Given the description of an element on the screen output the (x, y) to click on. 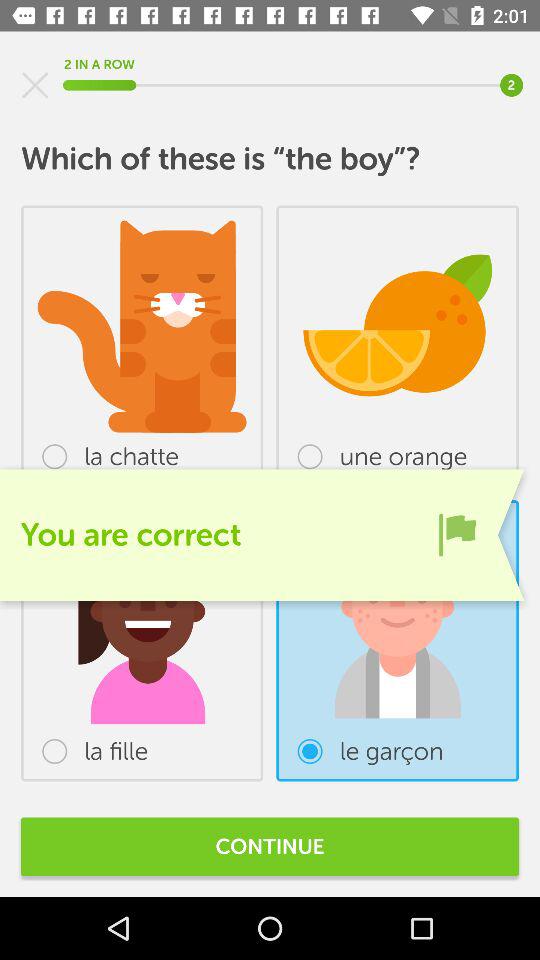
stop (35, 85)
